Given the description of an element on the screen output the (x, y) to click on. 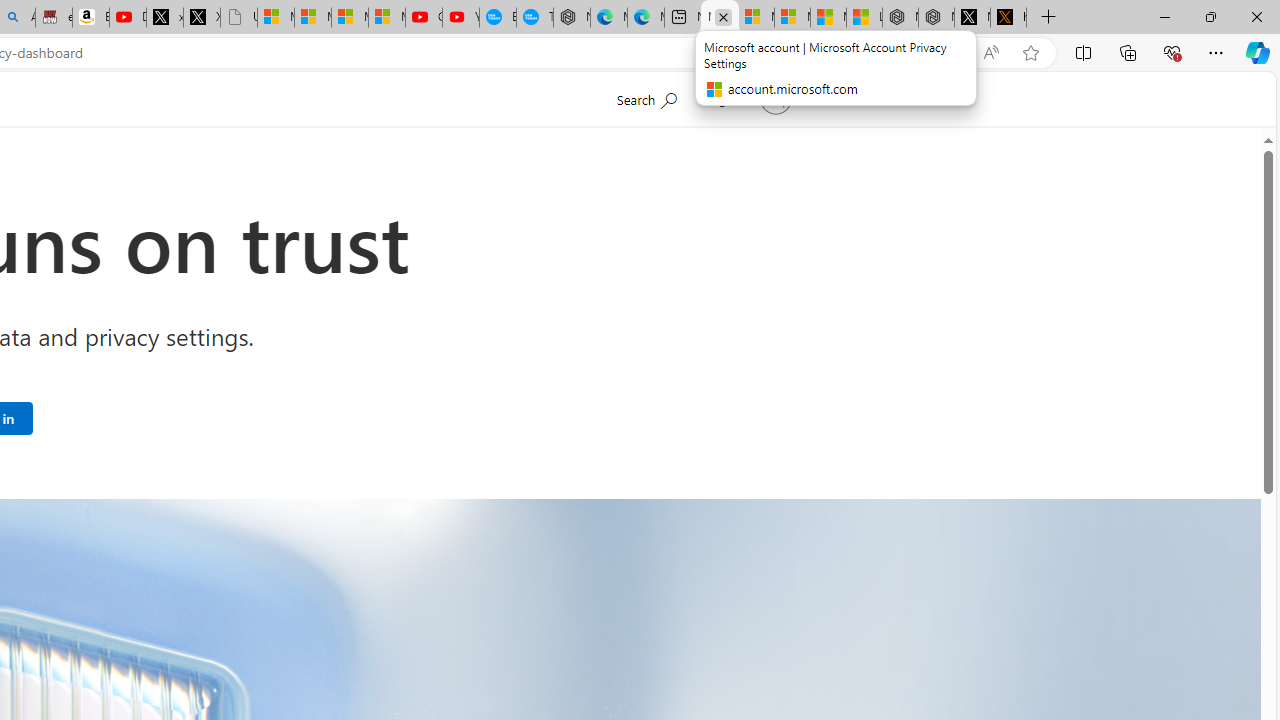
Gloom - YouTube (423, 17)
Add this page to favorites (Ctrl+D) (1030, 53)
Collections (1128, 52)
Close tab (723, 16)
Restore (1210, 16)
Read aloud this page (Ctrl+Shift+U) (991, 53)
Microsoft Start (828, 17)
YouTube Kids - An App Created for Kids to Explore Content (460, 17)
Settings and more (Alt+F) (1215, 52)
Minimize (1164, 16)
New Tab (1048, 17)
Microsoft account | Microsoft Account Privacy Settings (719, 17)
